Given the description of an element on the screen output the (x, y) to click on. 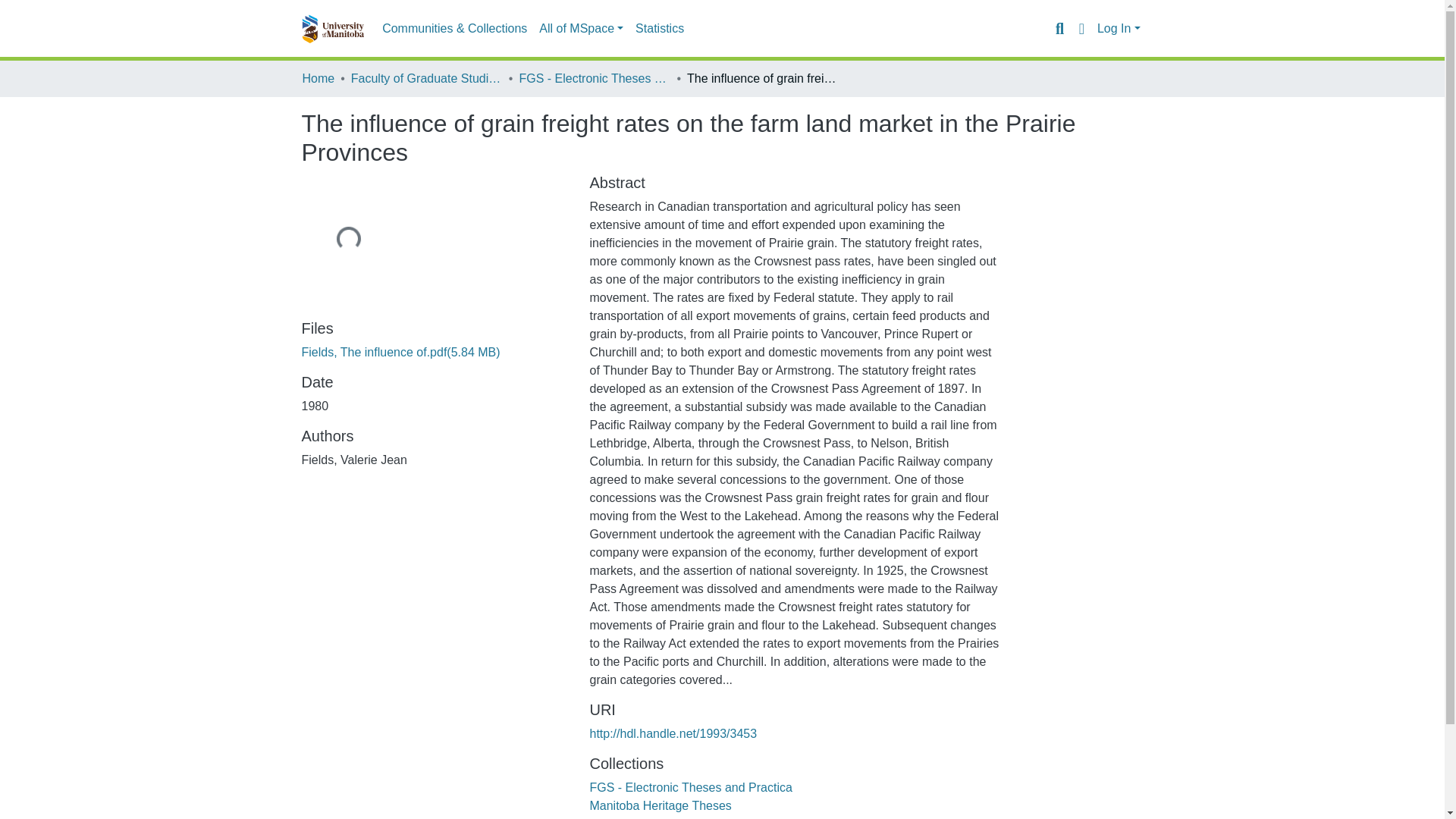
FGS - Electronic Theses and Practica (593, 78)
Home (317, 78)
Language switch (1081, 28)
Search (1058, 28)
Manitoba Heritage Theses (659, 805)
Statistics (659, 28)
Log In (1118, 28)
FGS - Electronic Theses and Practica (690, 787)
Statistics (659, 28)
All of MSpace (580, 28)
